Given the description of an element on the screen output the (x, y) to click on. 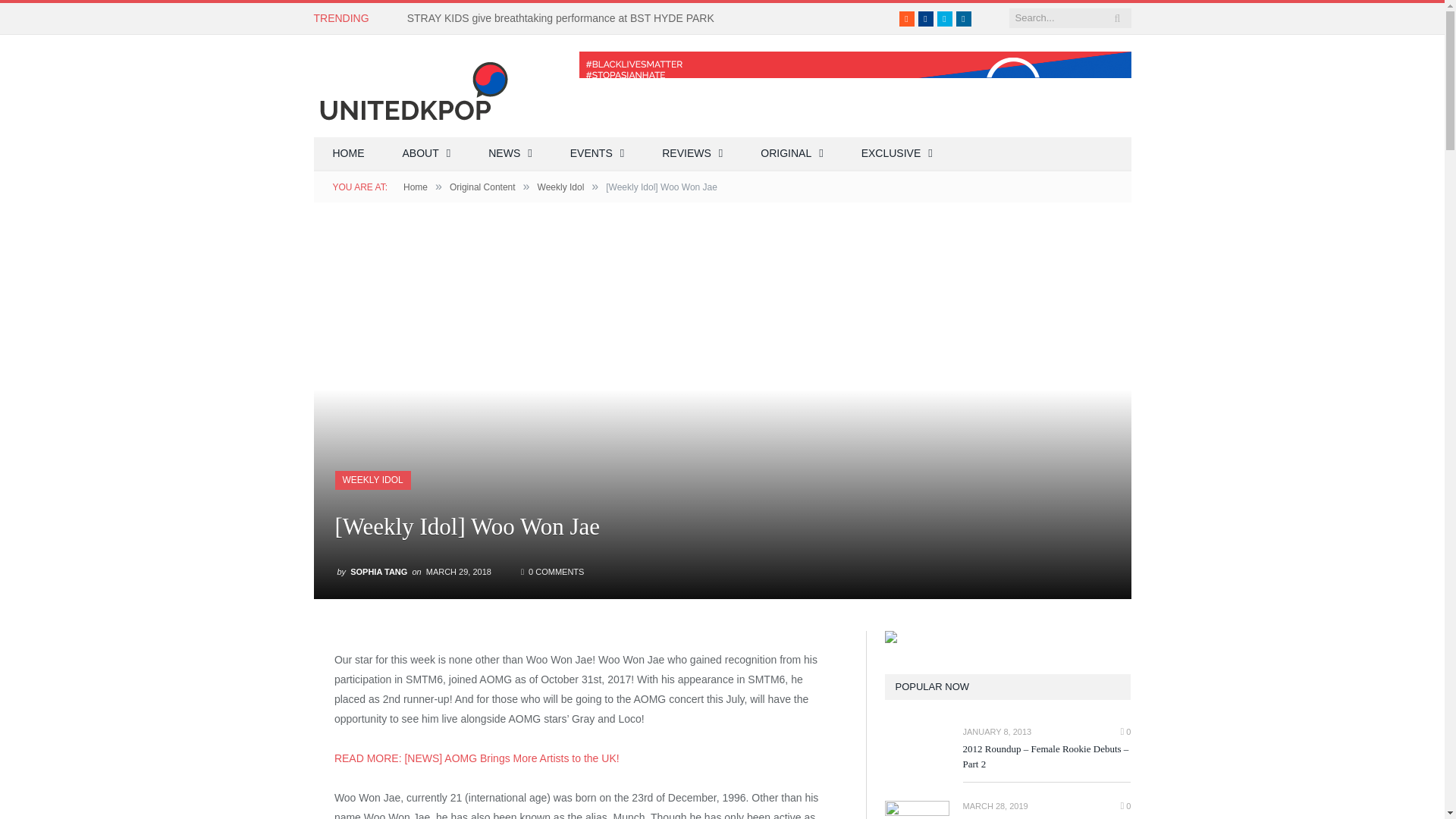
Facebook (925, 18)
Facebook (925, 18)
ABOUT (427, 154)
Twitter (944, 18)
UnitedKpop (411, 85)
NEWS (509, 154)
LinkedIn (963, 18)
HOME (349, 154)
LinkedIn (963, 18)
STRAY KIDS give breathtaking performance at BST HYDE PARK (564, 18)
